Given the description of an element on the screen output the (x, y) to click on. 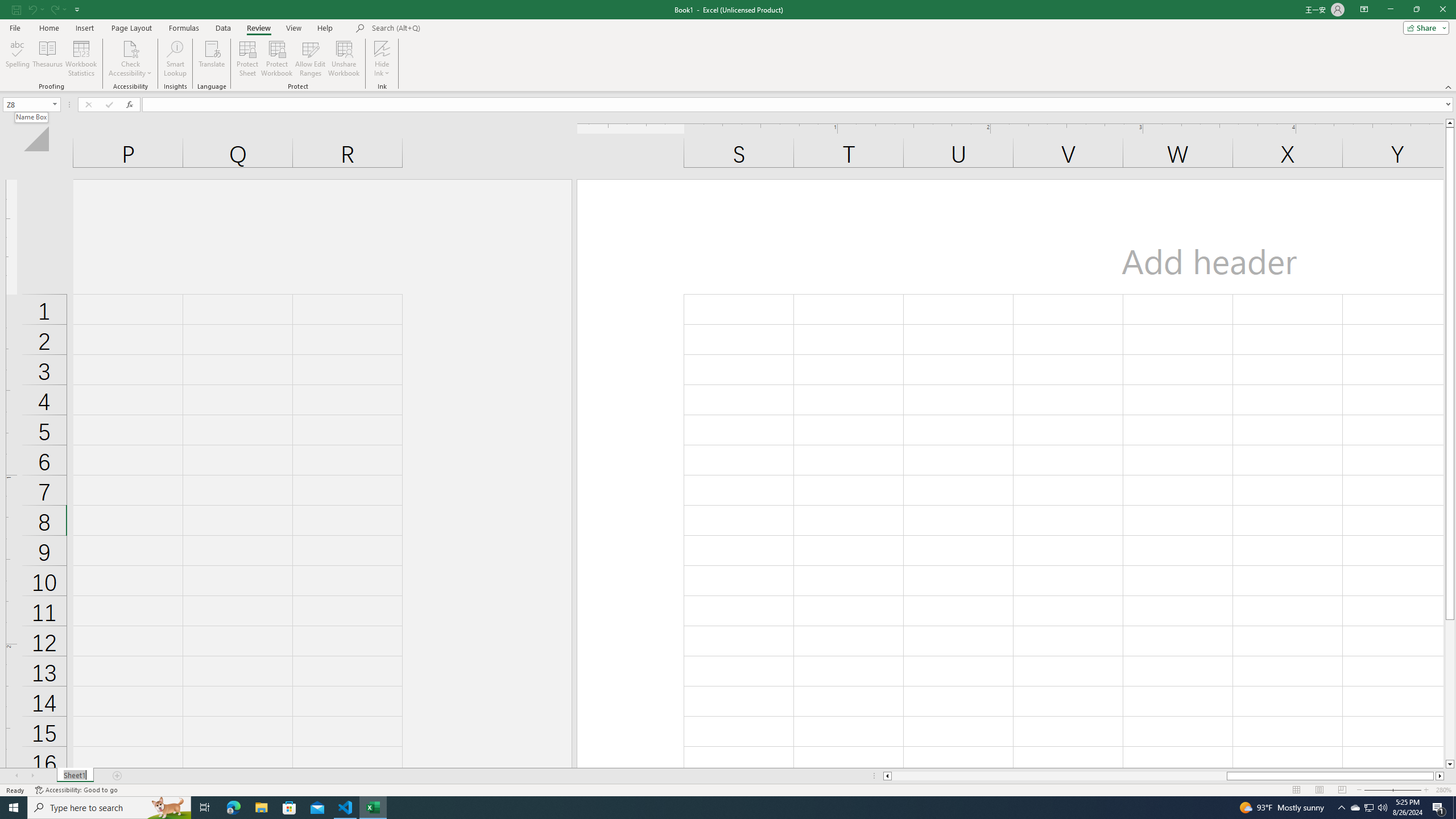
Sheet Tab (74, 775)
Spelling... (17, 58)
Formula Bar (798, 104)
Restore Down (1416, 9)
